Given the description of an element on the screen output the (x, y) to click on. 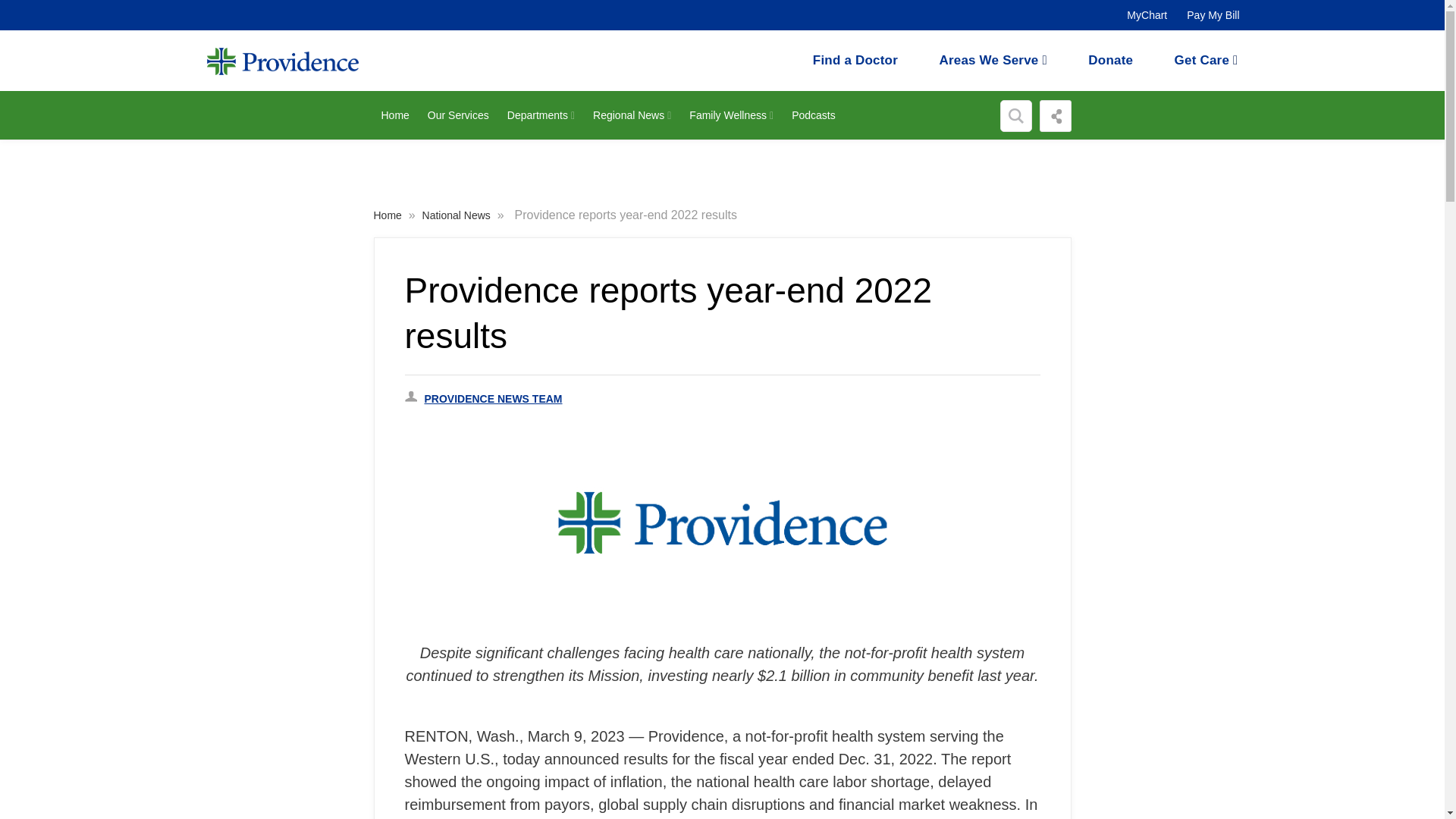
Donate (1109, 60)
MyChart (1146, 15)
Get Care (1206, 60)
Find a Doctor (855, 60)
Providence - System Nav (267, 60)
Our Services (458, 115)
Departments (541, 115)
Areas We Serve (992, 60)
Pay My Bill (1212, 15)
Home (394, 115)
Find a Doctor (855, 60)
Find a Doctor (1109, 60)
